Given the description of an element on the screen output the (x, y) to click on. 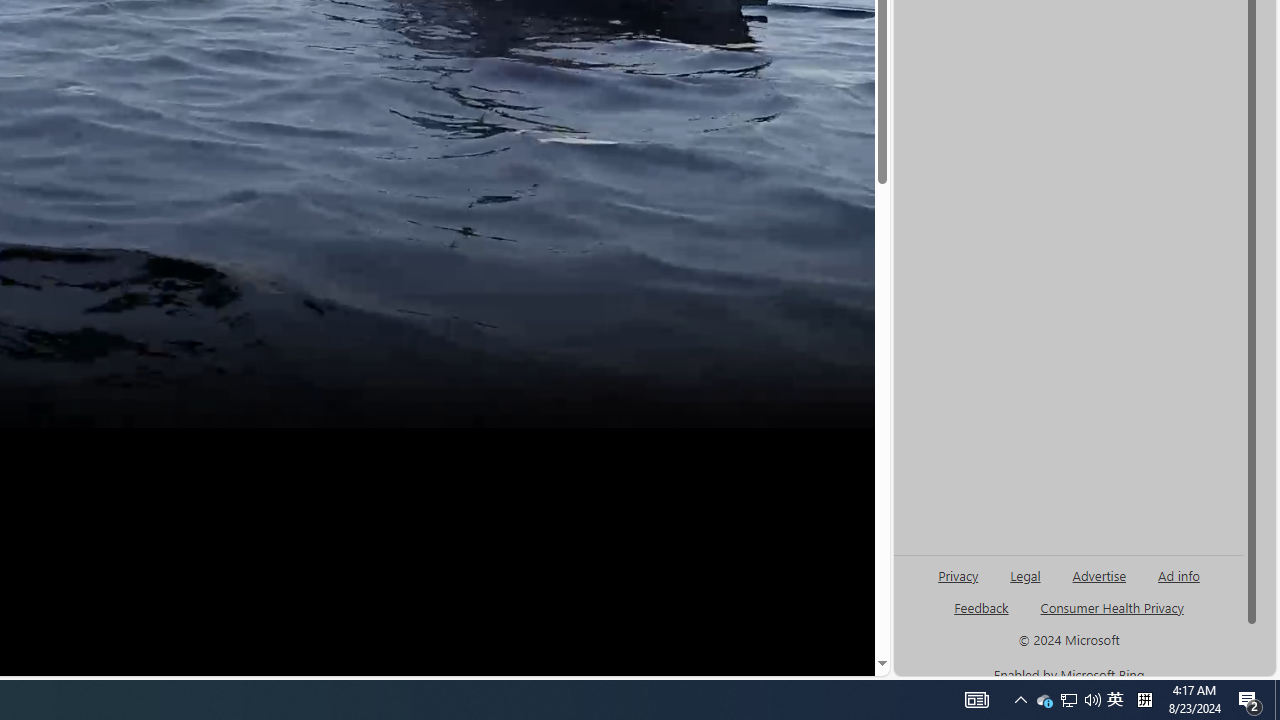
AutomationID: genId96 (981, 615)
AutomationID: sb_feedback (980, 607)
